Given the description of an element on the screen output the (x, y) to click on. 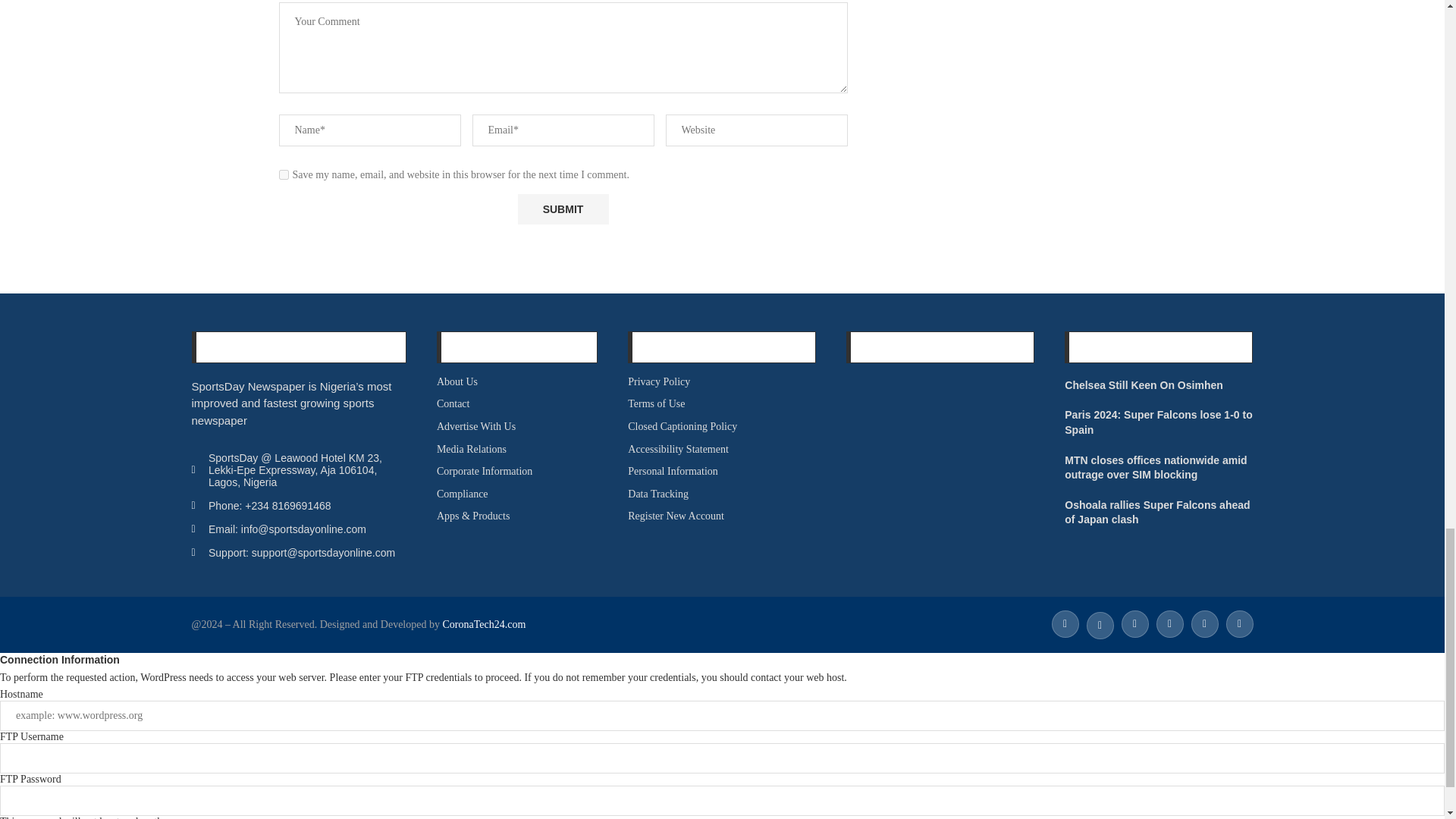
yes (283, 174)
Submit (562, 209)
